Given the description of an element on the screen output the (x, y) to click on. 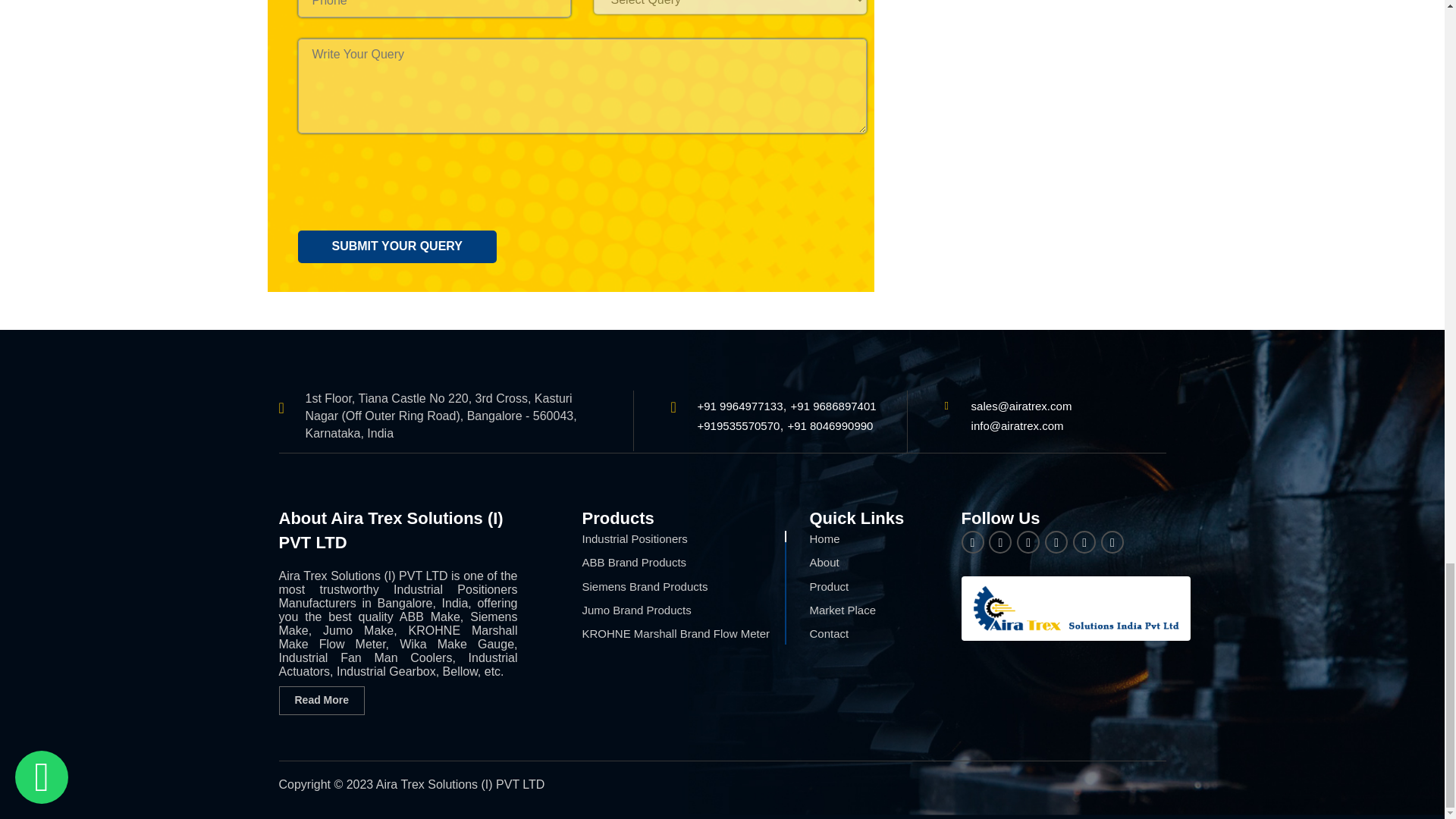
Submit Your Query (396, 246)
